Given the description of an element on the screen output the (x, y) to click on. 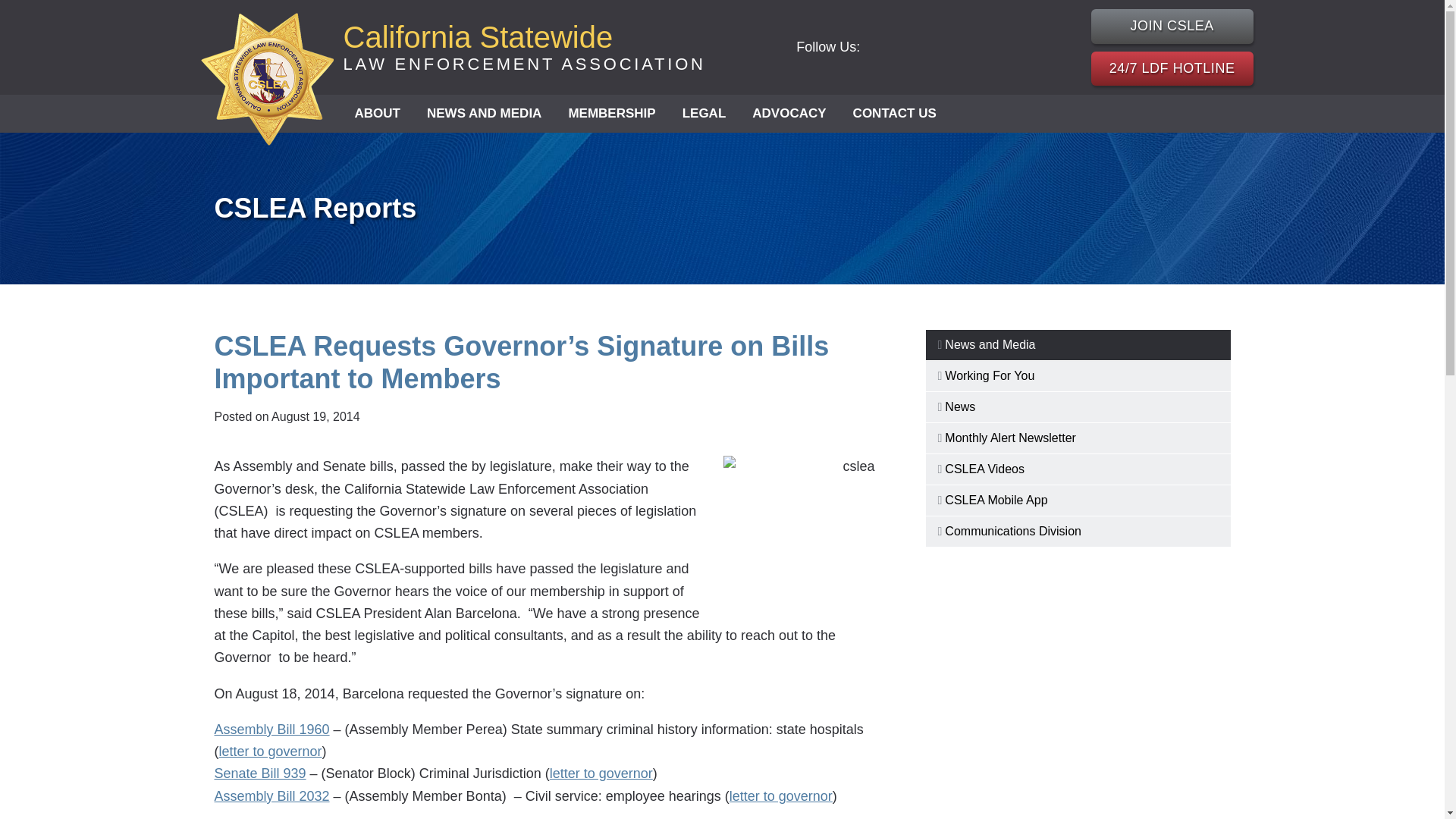
NEWS AND MEDIA (483, 113)
MEMBERSHIP (611, 113)
JOIN CSLEA (1171, 26)
Skip to primary navigation (523, 47)
